Given the description of an element on the screen output the (x, y) to click on. 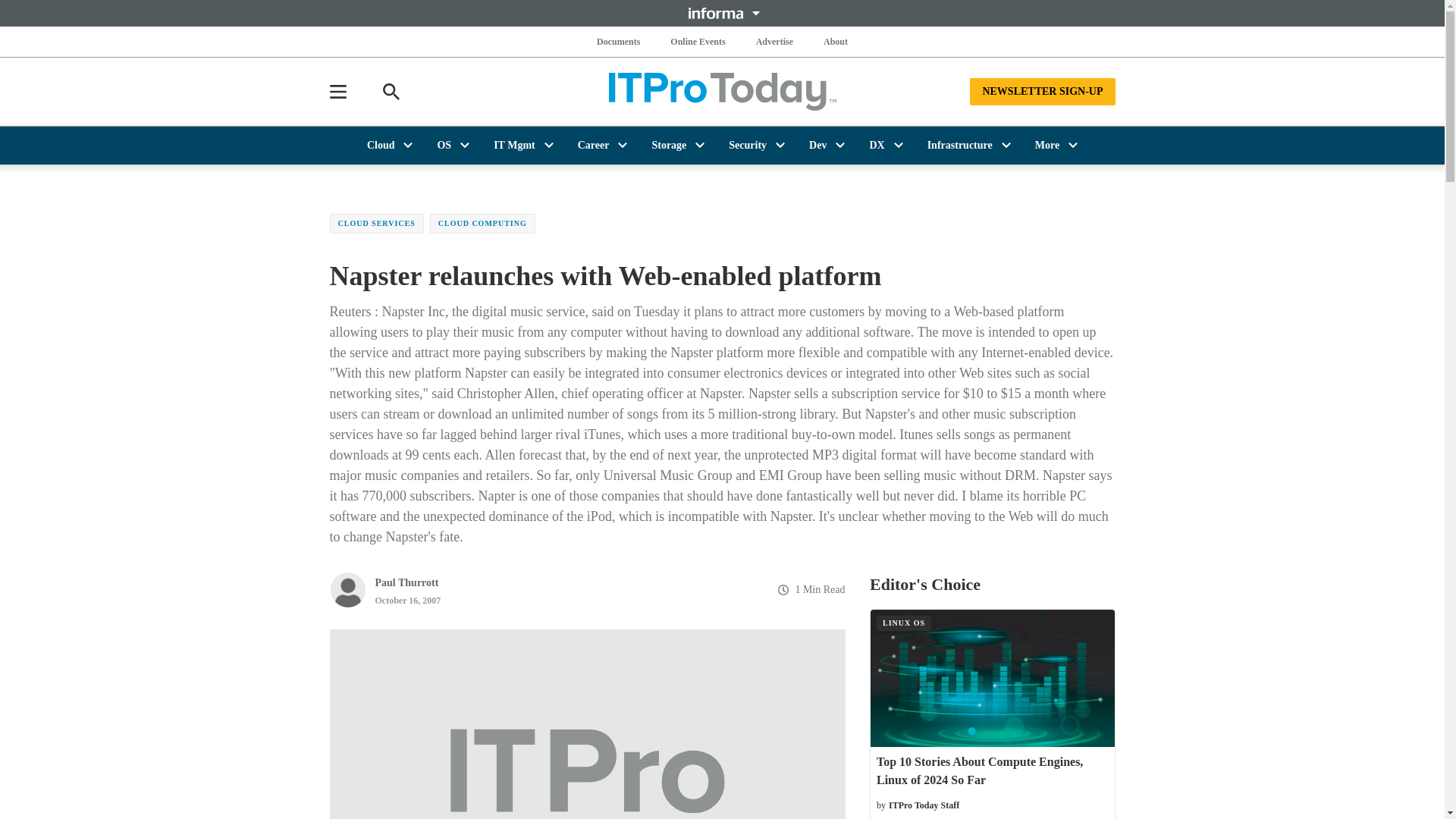
About (835, 41)
Online Events (697, 41)
NEWSLETTER SIGN-UP (1042, 90)
Documents (618, 41)
Advertise (774, 41)
ITPro Today Logo (721, 91)
